Given the description of an element on the screen output the (x, y) to click on. 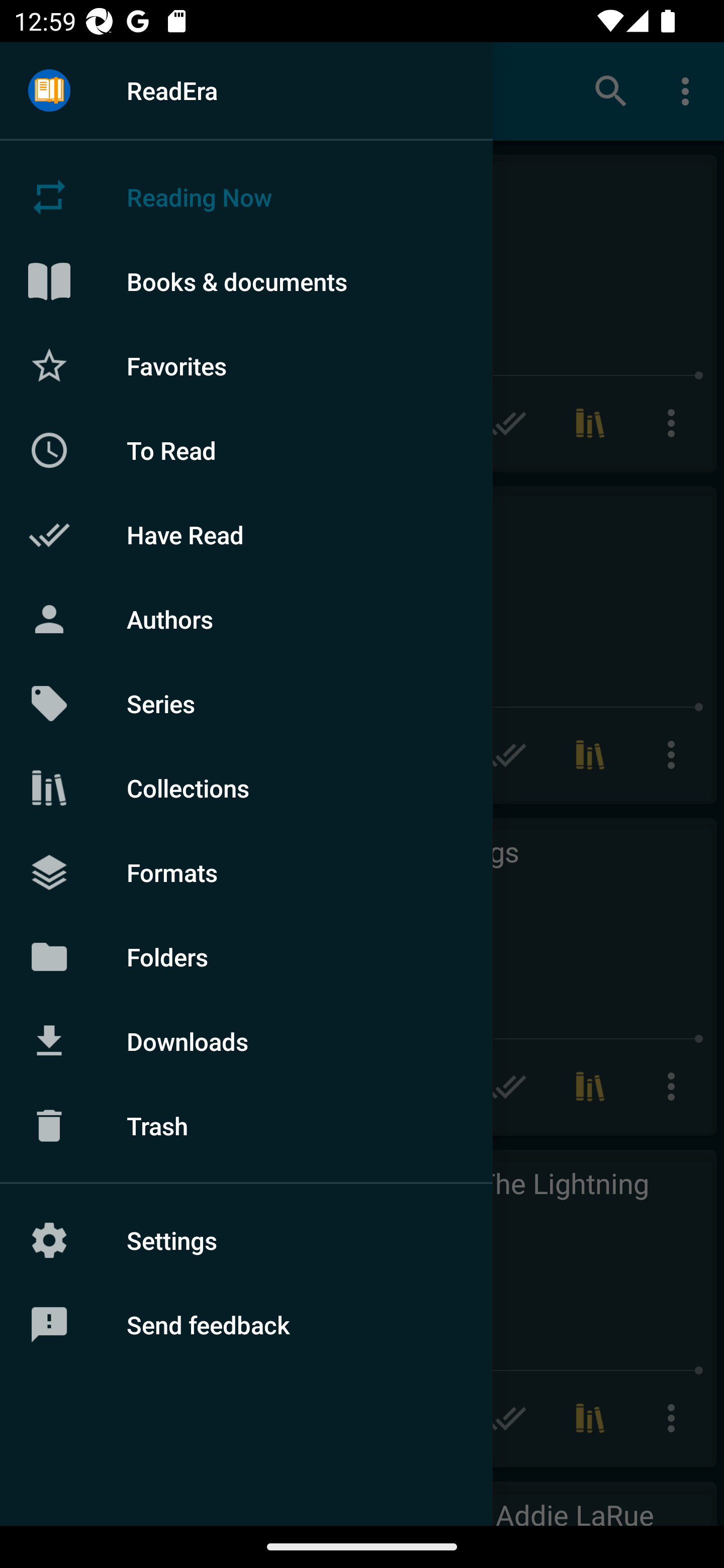
Menu (49, 91)
ReadEra (246, 89)
Search books & documents (611, 90)
More options (688, 90)
Reading Now (246, 197)
Books & documents (246, 281)
Favorites (246, 365)
More options (674, 423)
To Read (246, 449)
Have Read (246, 534)
Authors (246, 619)
Series (246, 703)
Collections (246, 787)
Formats (246, 871)
Folders (246, 956)
Downloads (246, 1040)
Trash (246, 1125)
Settings (246, 1239)
Send feedback (246, 1324)
